Given the description of an element on the screen output the (x, y) to click on. 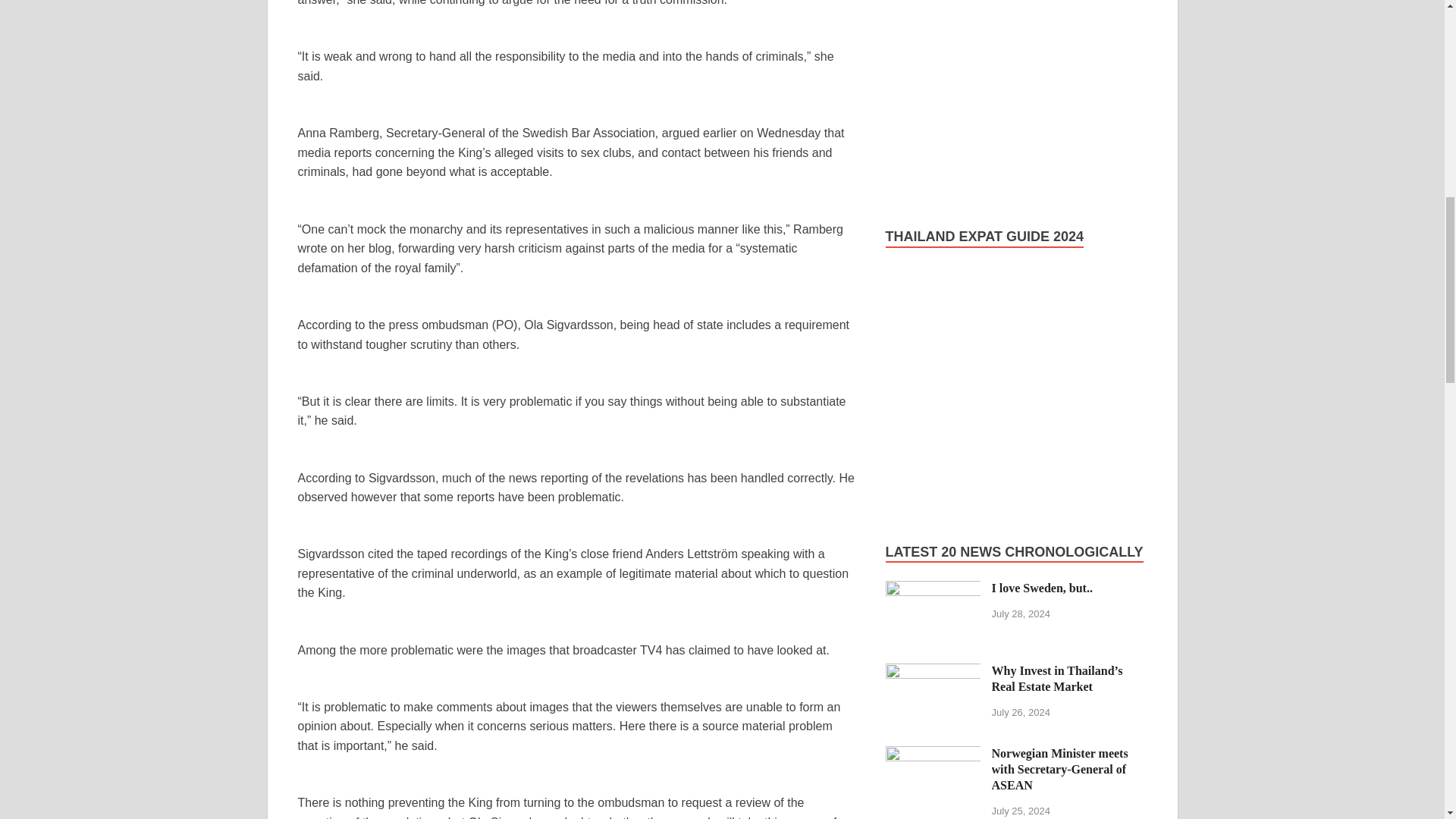
I love Sweden, but.. (932, 589)
Norwegian Minister meets with Secretary-General of ASEAN (932, 754)
